Given the description of an element on the screen output the (x, y) to click on. 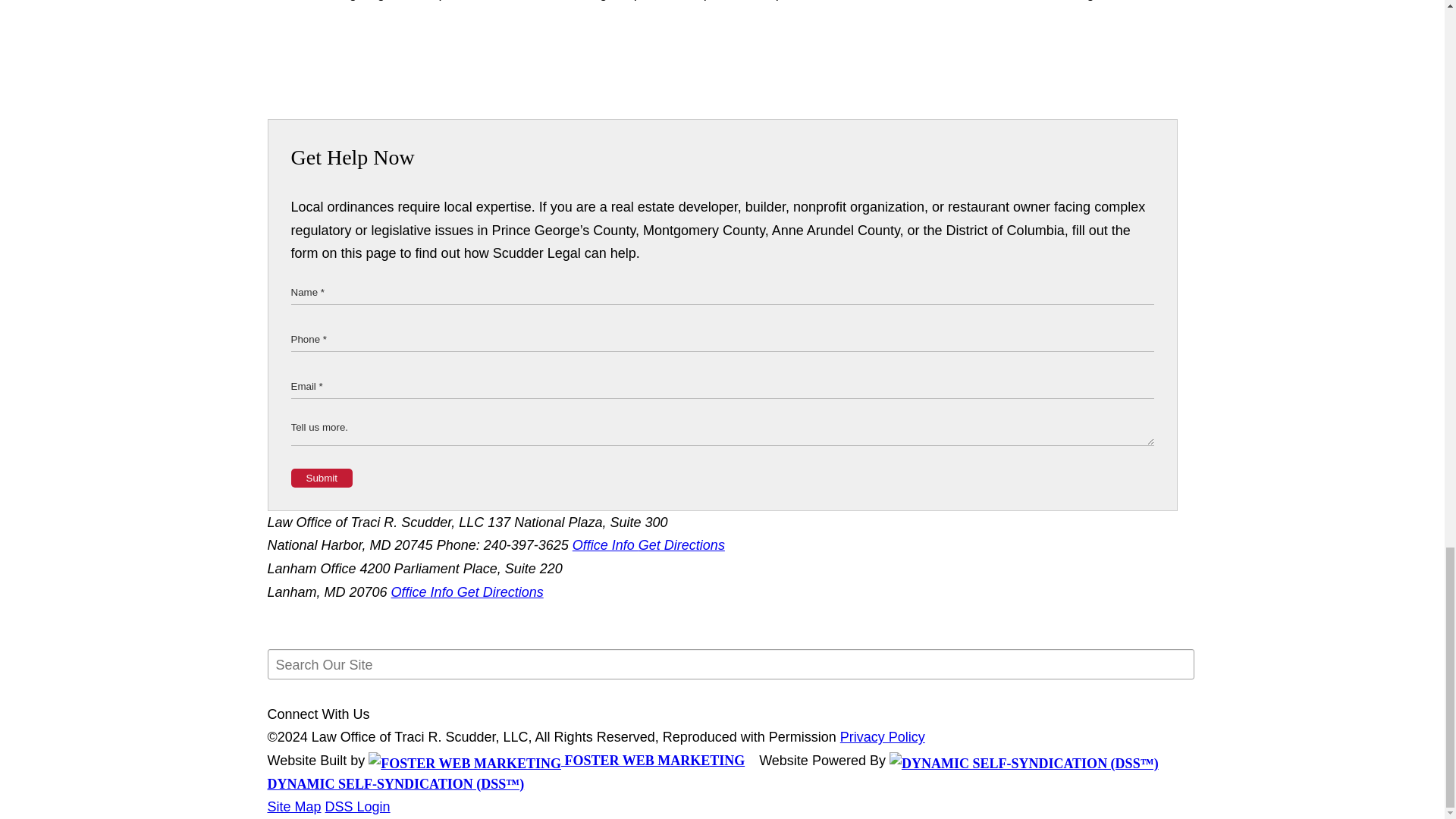
Get Directions (682, 544)
Site Map (293, 806)
Submit (321, 477)
FOSTER WEB MARKETING (556, 760)
Get Directions (500, 591)
Office Info (424, 591)
Office Info (605, 544)
DSS Login (357, 806)
Contact us (865, 0)
Privacy Policy (882, 736)
